Given the description of an element on the screen output the (x, y) to click on. 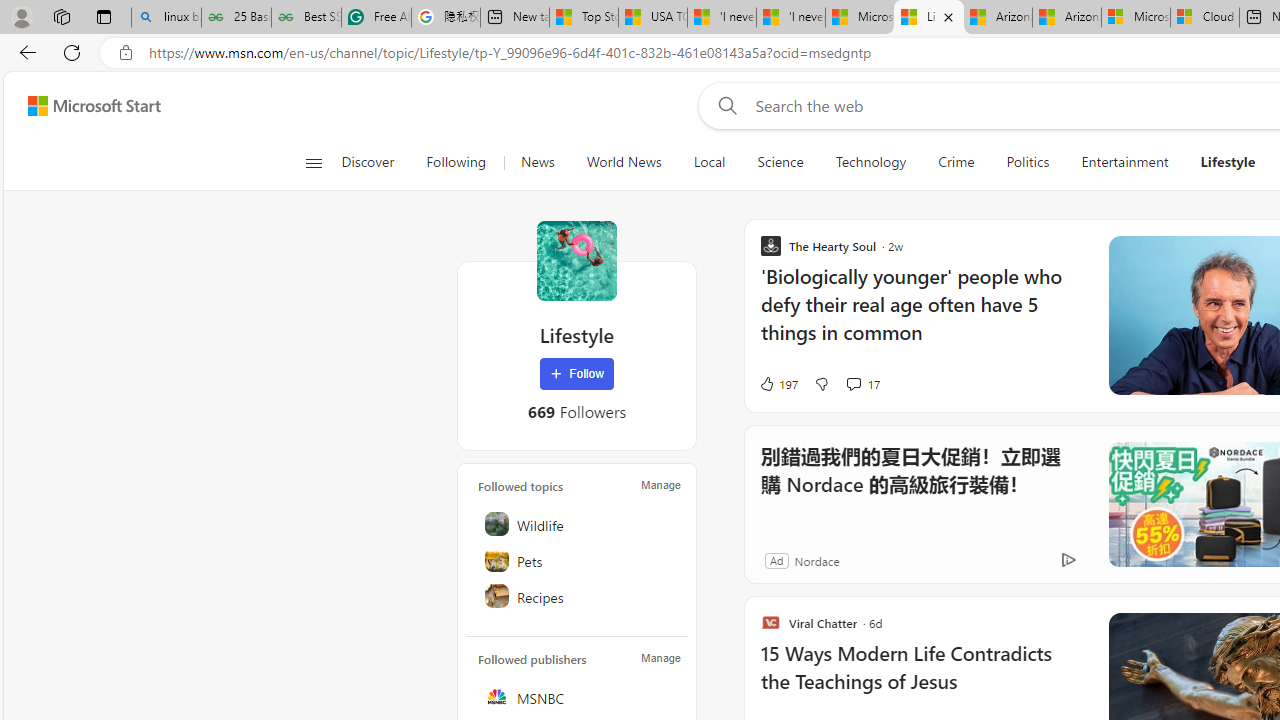
Politics (1027, 162)
USA TODAY - MSN (653, 17)
Follow (577, 373)
Manage (660, 657)
View comments 17 Comment (852, 383)
Technology (870, 162)
Wildlife (578, 524)
Microsoft Start (94, 105)
